Given the description of an element on the screen output the (x, y) to click on. 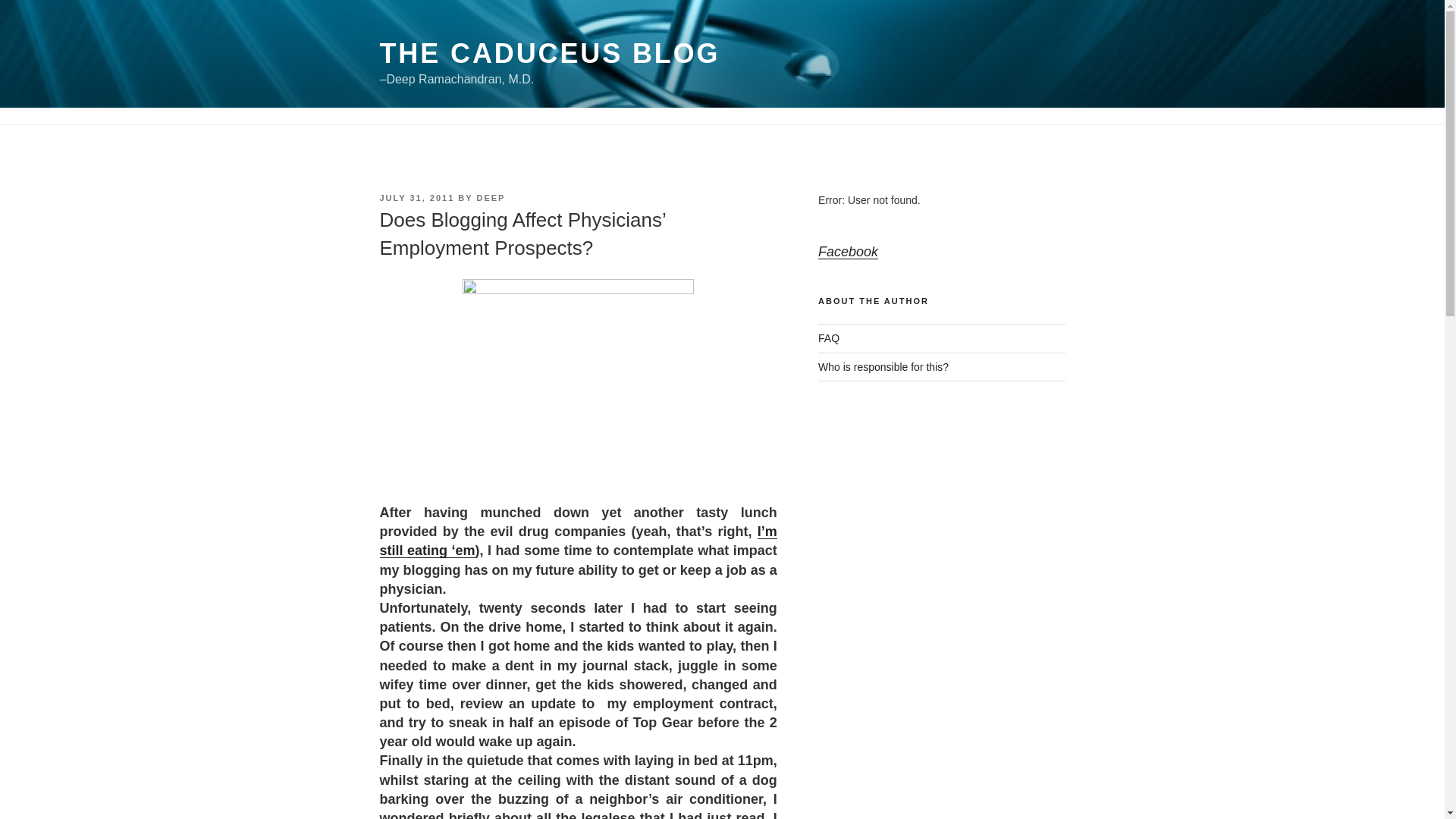
FAQ (829, 337)
JULY 31, 2011 (416, 197)
Who is responsible for this? (883, 367)
THE CADUCEUS BLOG (548, 52)
Facebook (847, 251)
Pharma Lunch Money Spending (577, 540)
DEEP (490, 197)
